Given the description of an element on the screen output the (x, y) to click on. 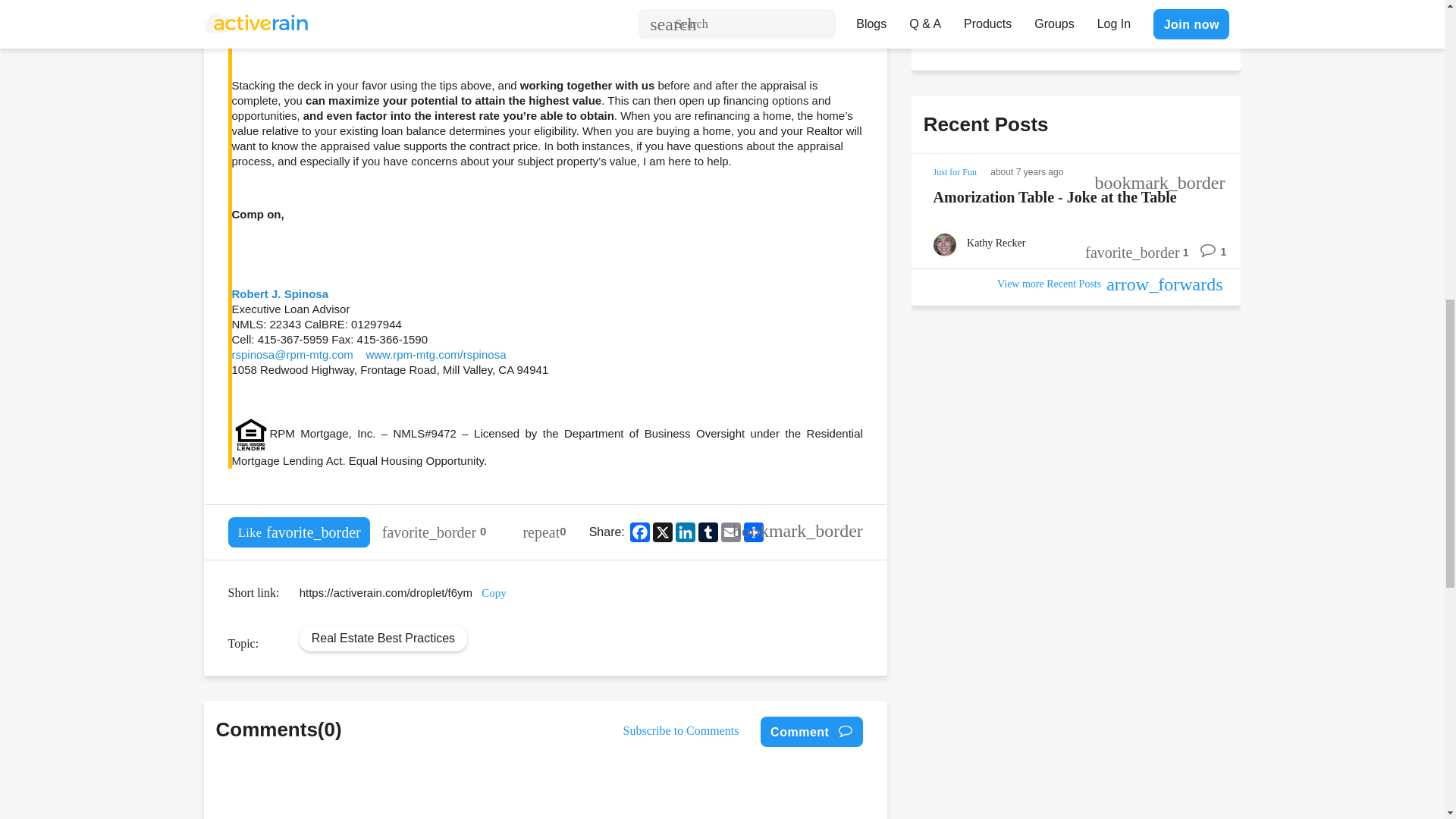
Send Message (978, 30)
Email (730, 531)
LinkedIn (685, 531)
repeat 0 (544, 531)
Real Estate Best Practices (382, 637)
Copy (493, 592)
X (662, 531)
This entry hasn't been re-blogged (544, 531)
Facebook (639, 531)
Subscribe to Comments (681, 730)
